Given the description of an element on the screen output the (x, y) to click on. 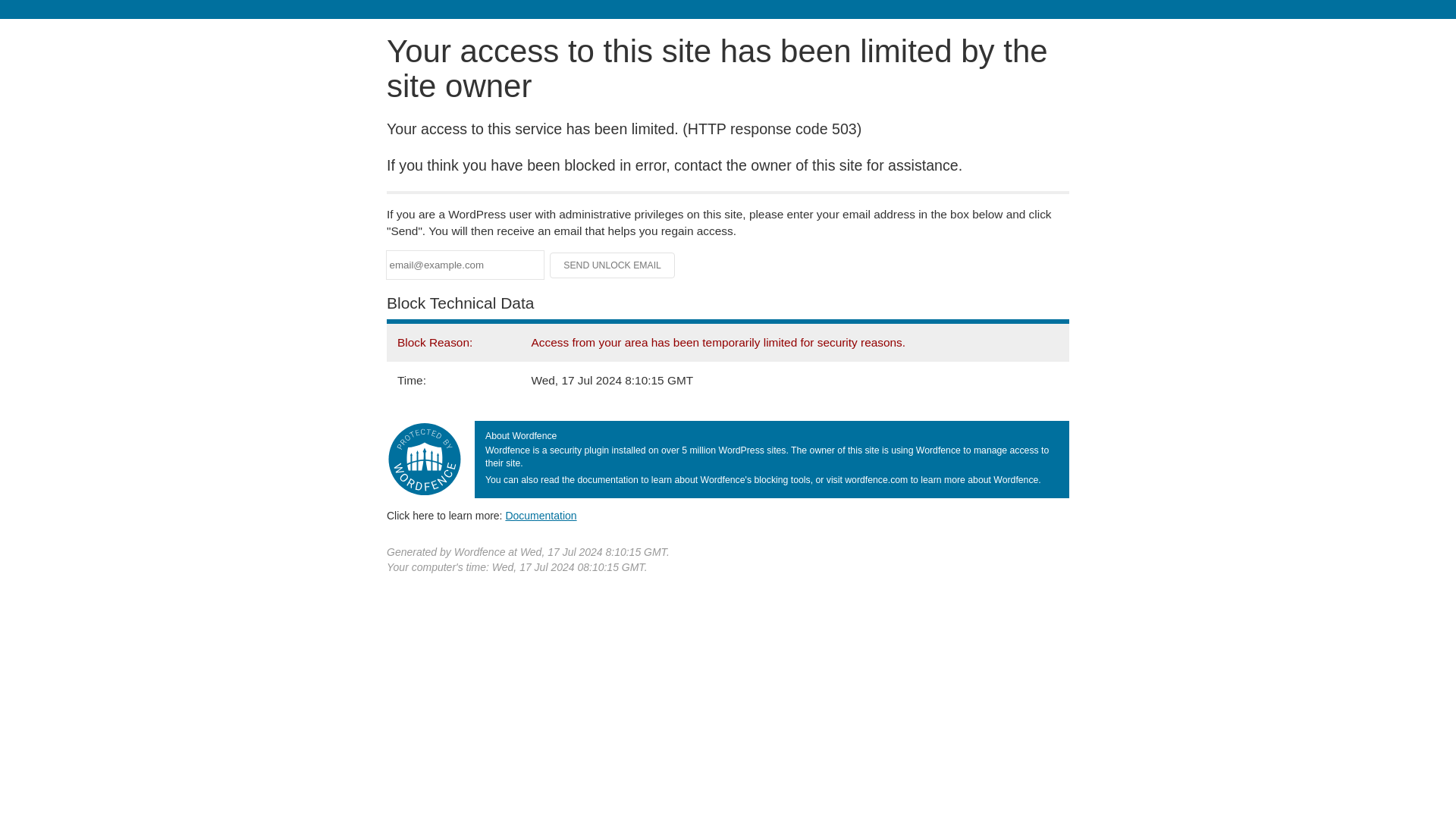
Documentation (540, 515)
Send Unlock Email (612, 265)
Send Unlock Email (612, 265)
